Given the description of an element on the screen output the (x, y) to click on. 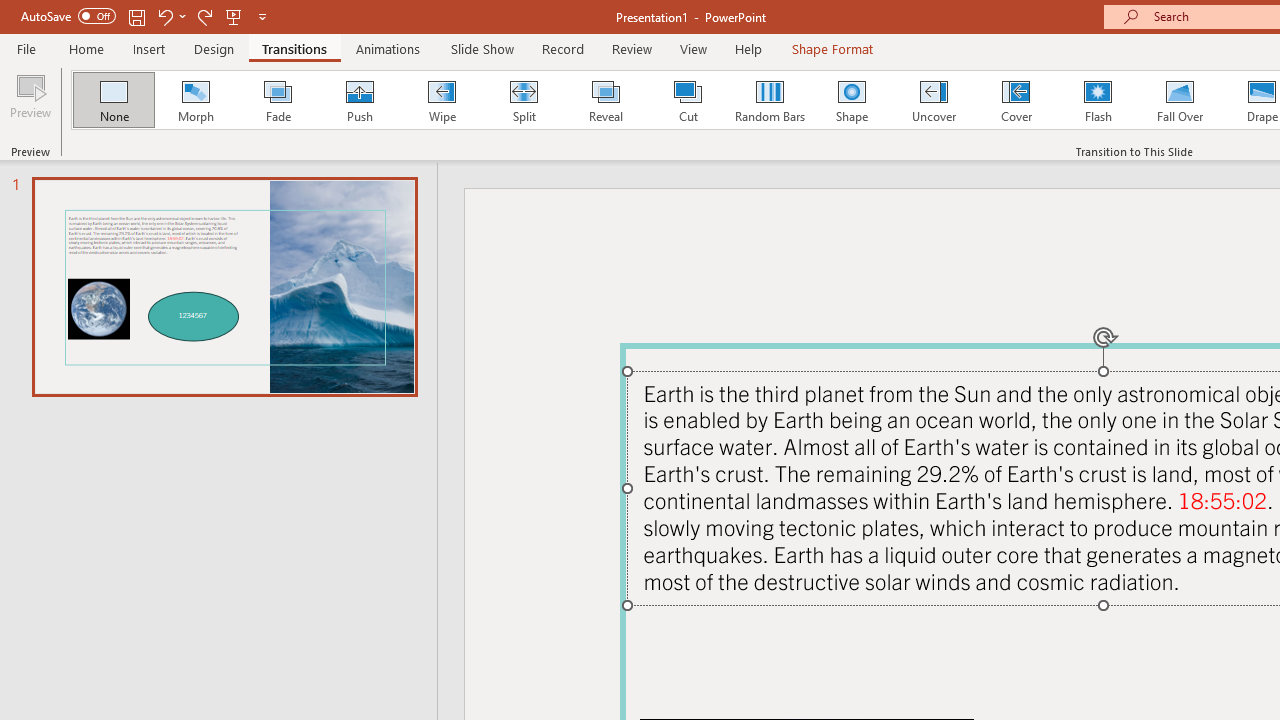
Cover (1016, 100)
Random Bars (770, 100)
Flash (1098, 100)
None (113, 100)
Wipe (441, 100)
Push (359, 100)
